Given the description of an element on the screen output the (x, y) to click on. 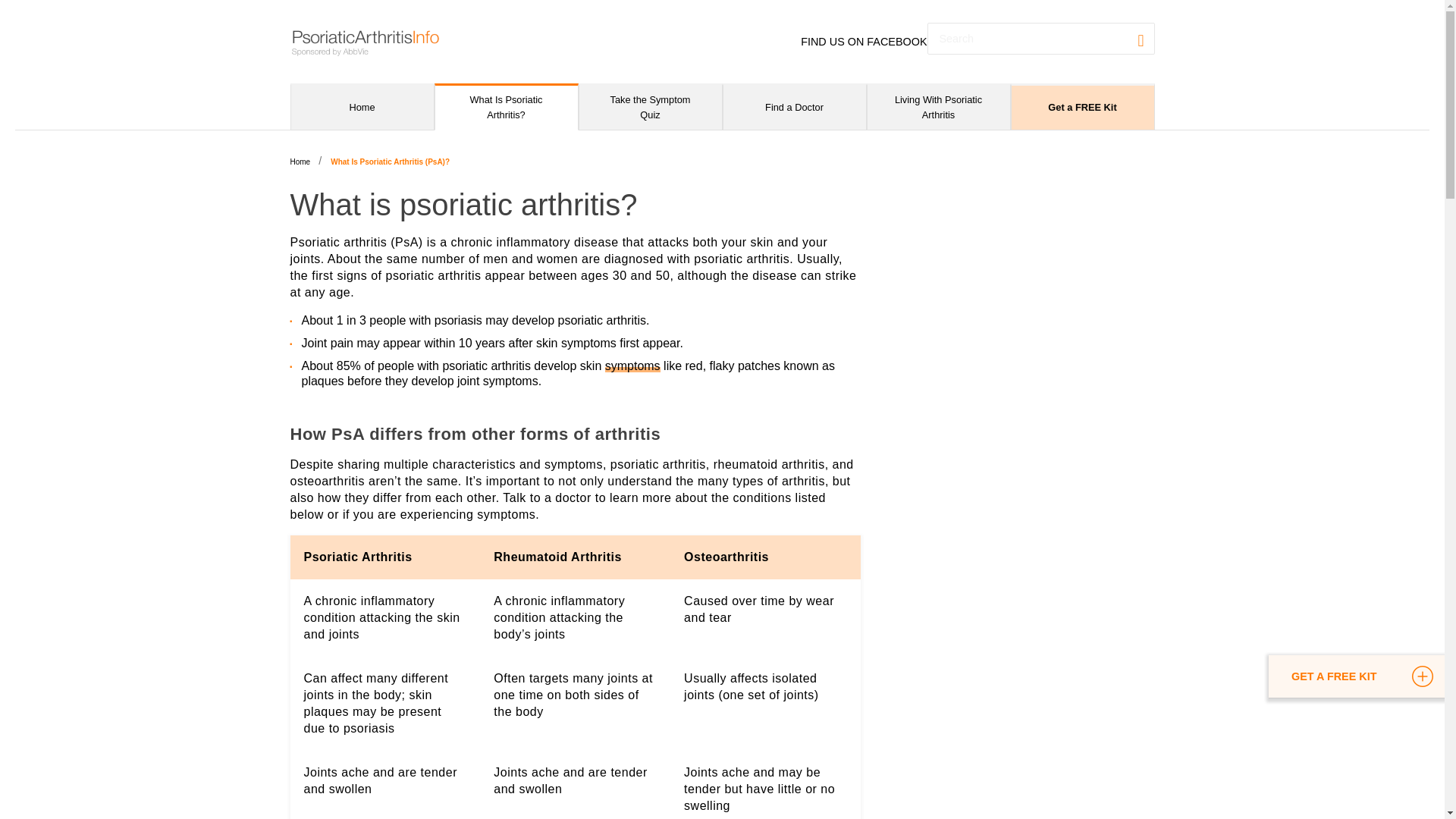
Get a FREE Kit (1082, 106)
What Is Psoriatic Arthritis? (505, 106)
Home (299, 162)
Find a Doctor (794, 106)
Living With Psoriatic Arthritis (938, 106)
Home (361, 106)
Take the Symptom Quiz (650, 106)
logo (365, 41)
symptoms (633, 365)
Home (299, 162)
